Given the description of an element on the screen output the (x, y) to click on. 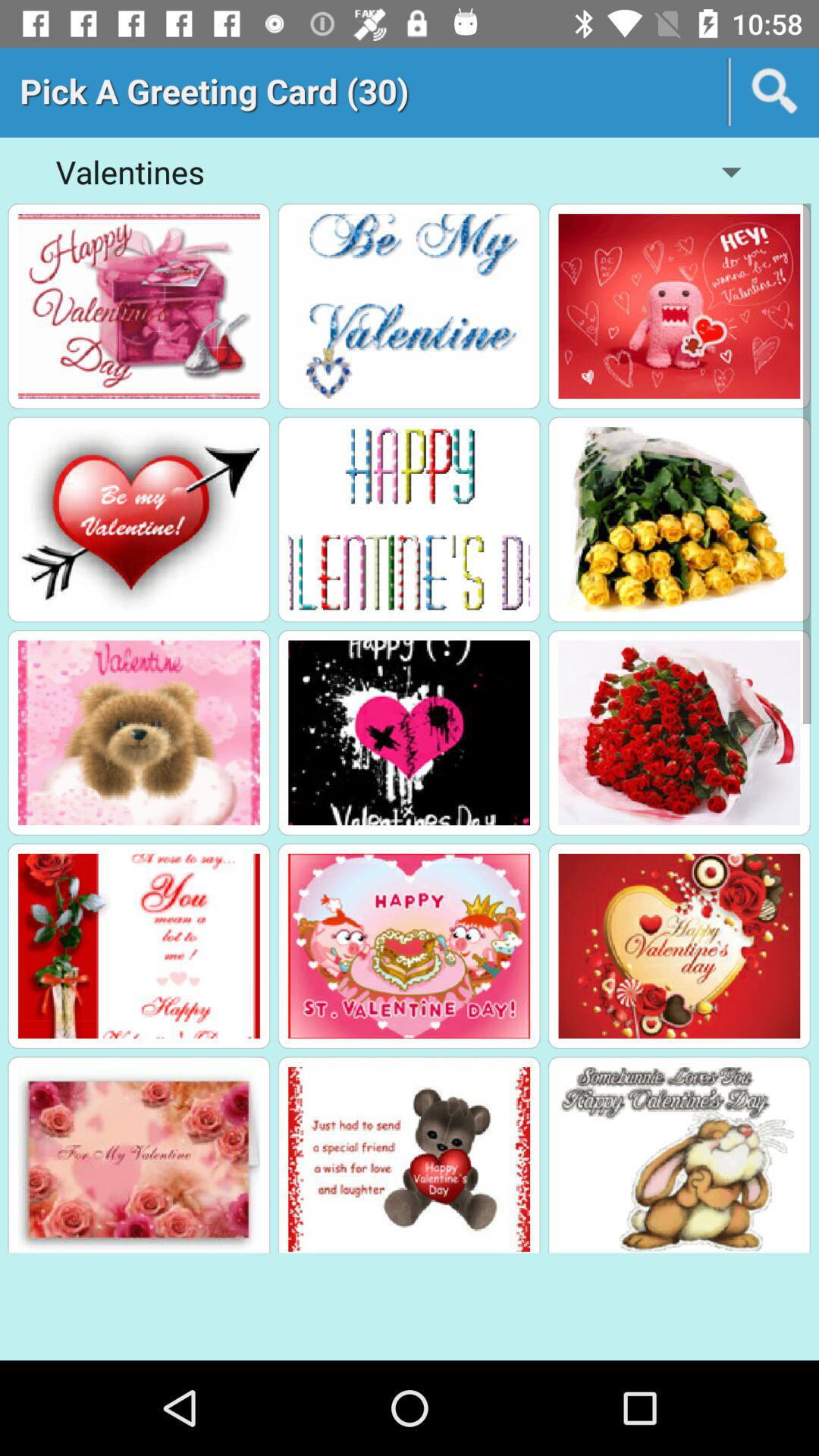
view photo (409, 945)
